Given the description of an element on the screen output the (x, y) to click on. 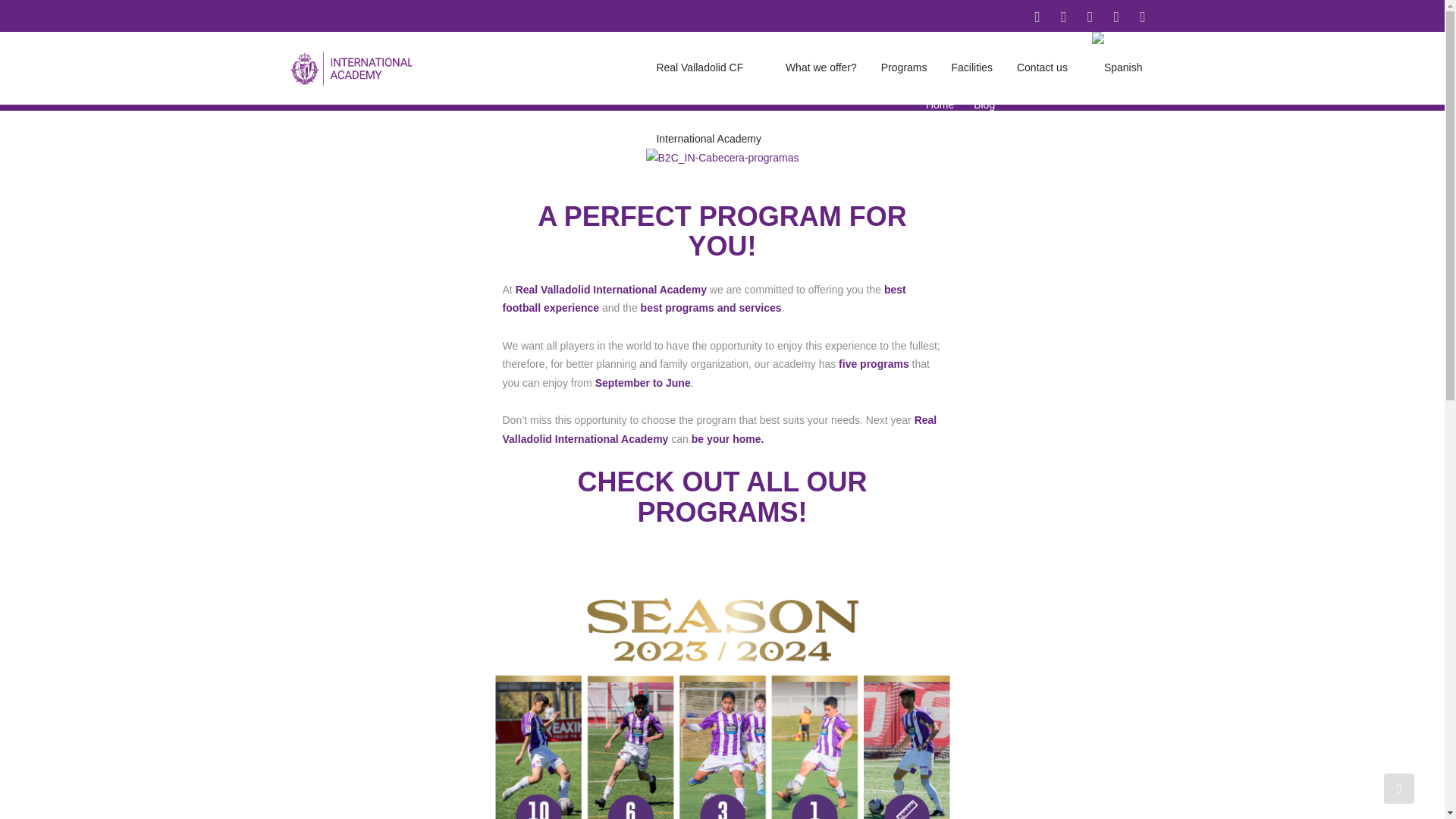
What we offer? (821, 67)
